Given the description of an element on the screen output the (x, y) to click on. 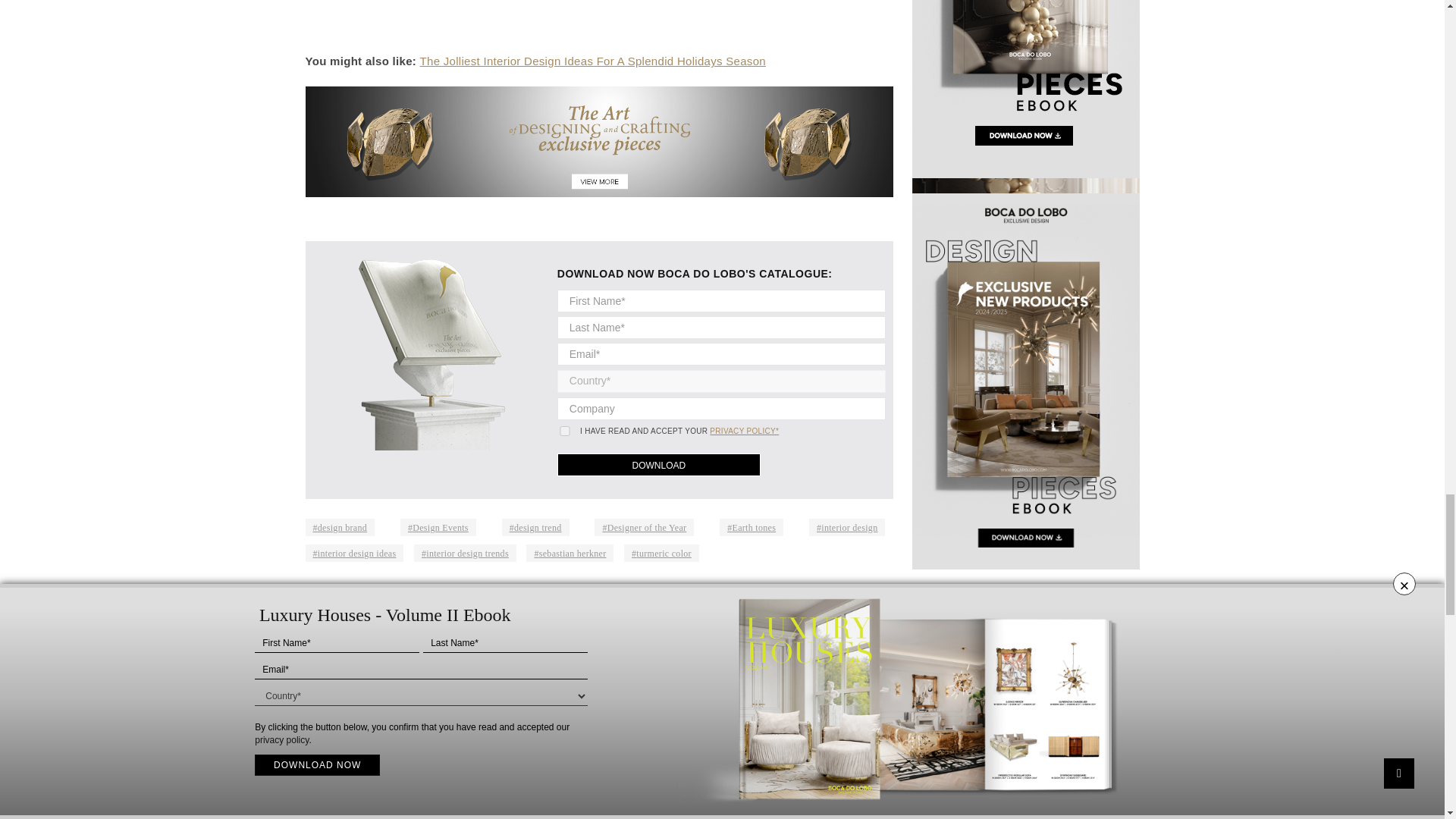
1 (564, 430)
Download (658, 464)
